Given the description of an element on the screen output the (x, y) to click on. 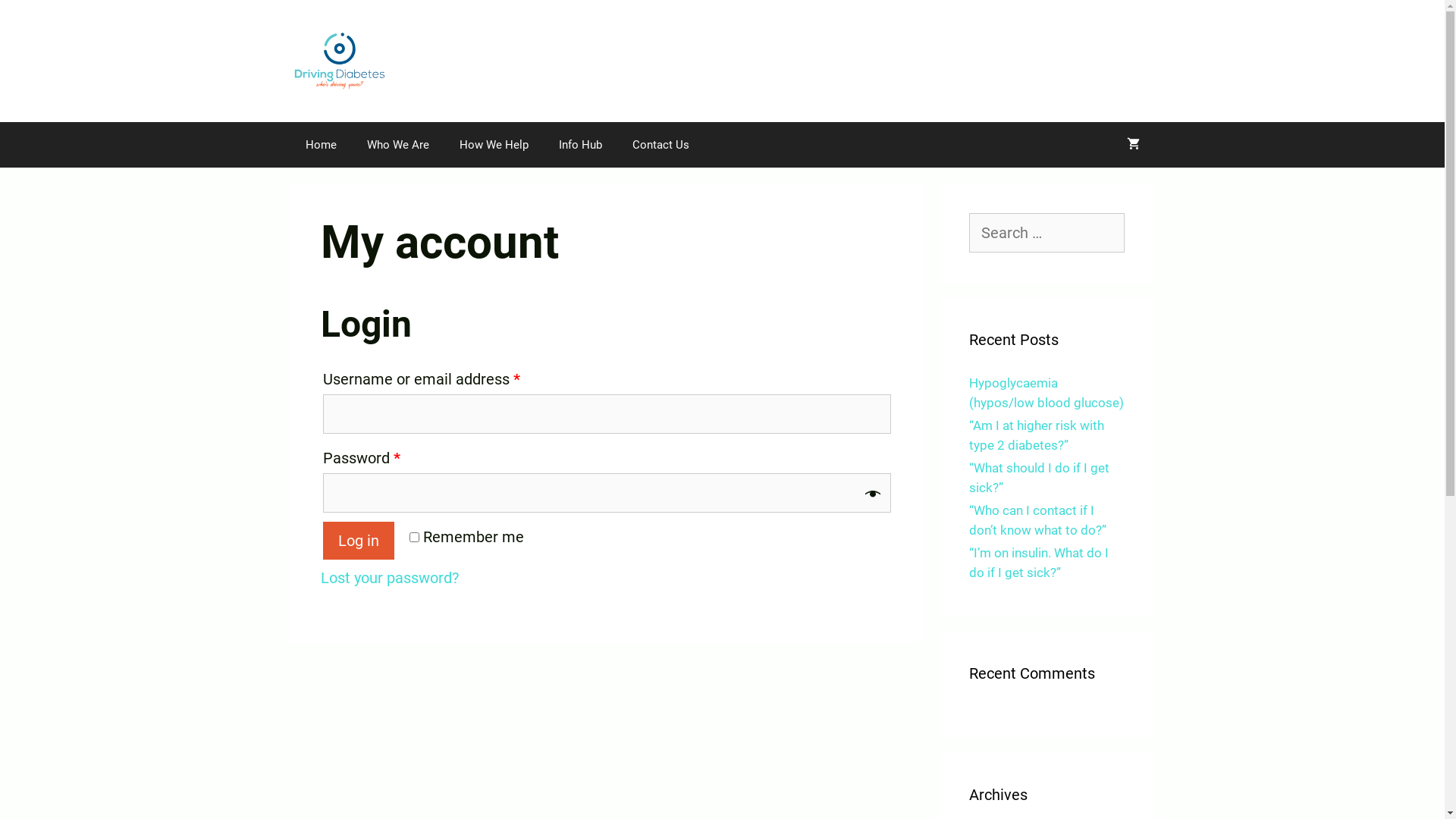
View your shopping cart Element type: hover (1132, 144)
Search for: Element type: hover (1046, 232)
Log in Element type: text (358, 540)
Contact Us Element type: text (660, 144)
Search Element type: text (39, 19)
Info Hub Element type: text (579, 144)
Home Element type: text (320, 144)
Who We Are Element type: text (397, 144)
How We Help Element type: text (493, 144)
Driving Diabetes Element type: hover (338, 60)
Driving Diabetes Element type: hover (338, 59)
Lost your password? Element type: text (389, 577)
Hypoglycaemia (hypos/low blood glucose) Element type: text (1046, 392)
